Given the description of an element on the screen output the (x, y) to click on. 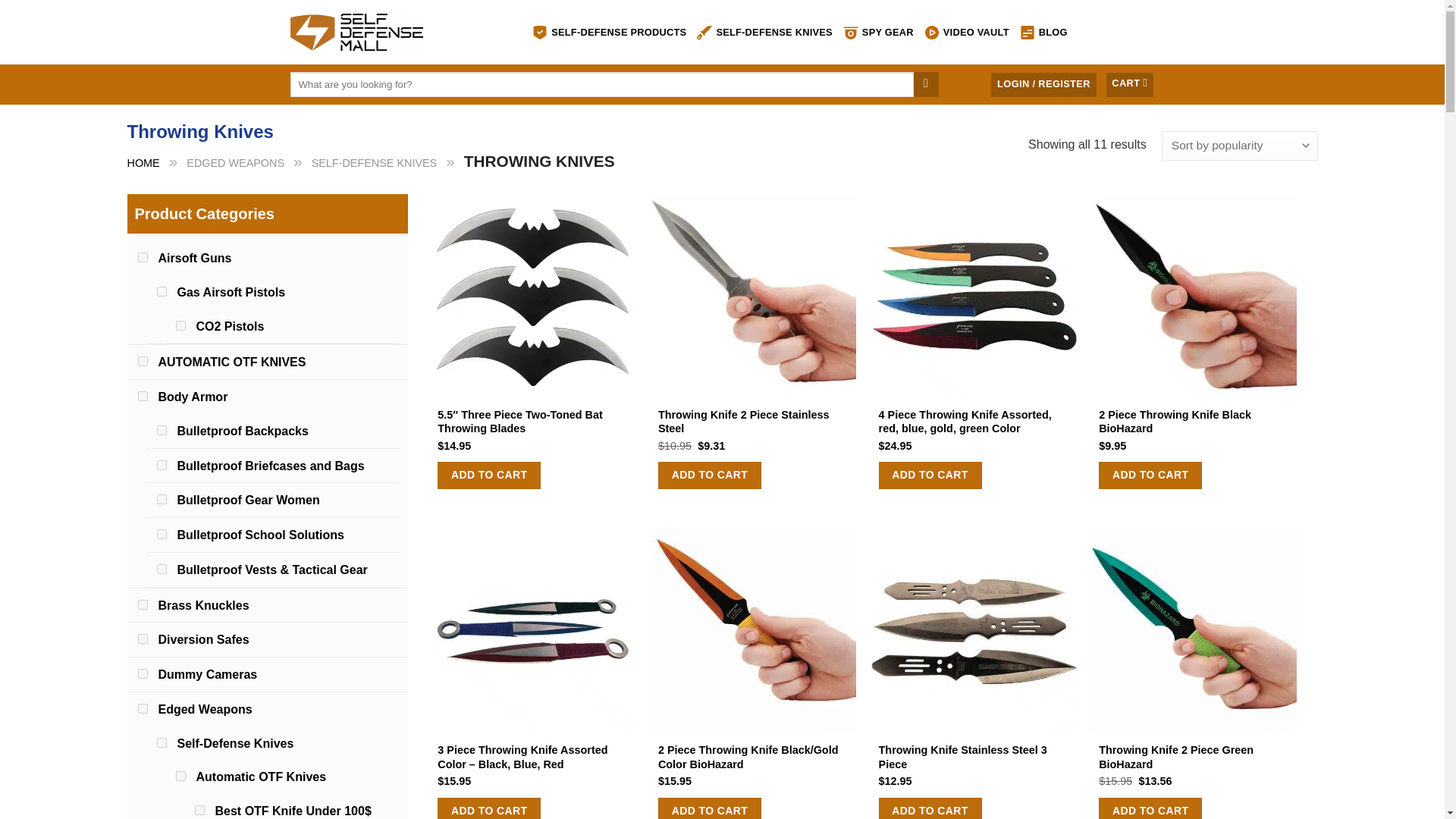
co2-pistols (181, 325)
EDGED WEAPONS (234, 162)
body-armor-and-protection (143, 396)
SELF-DEFENSE KNIVES (764, 32)
bulletproof-school-solutions (160, 533)
Self-Defense Knives (235, 743)
automatic-otf-knives (181, 776)
CART (1129, 84)
Bulletproof School Solutions (260, 534)
diversion-safes (143, 638)
Dummy Cameras (207, 674)
Cart (1129, 84)
bulletproof-briefcases-and-bags (160, 465)
airsoft (143, 257)
SELF-DEFENSE KNIVES (374, 162)
